Given the description of an element on the screen output the (x, y) to click on. 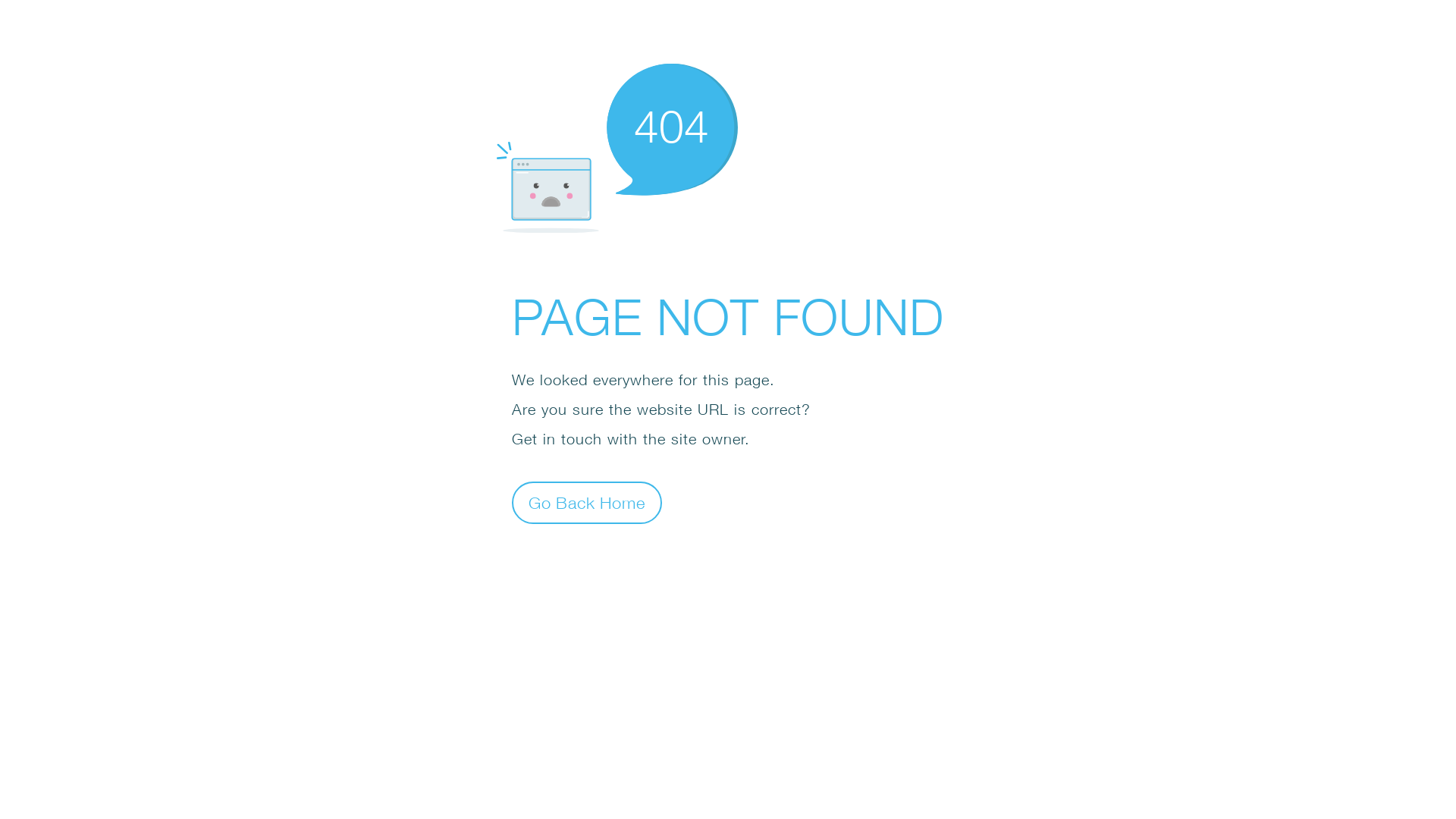
Go Back Home Element type: text (586, 502)
